Given the description of an element on the screen output the (x, y) to click on. 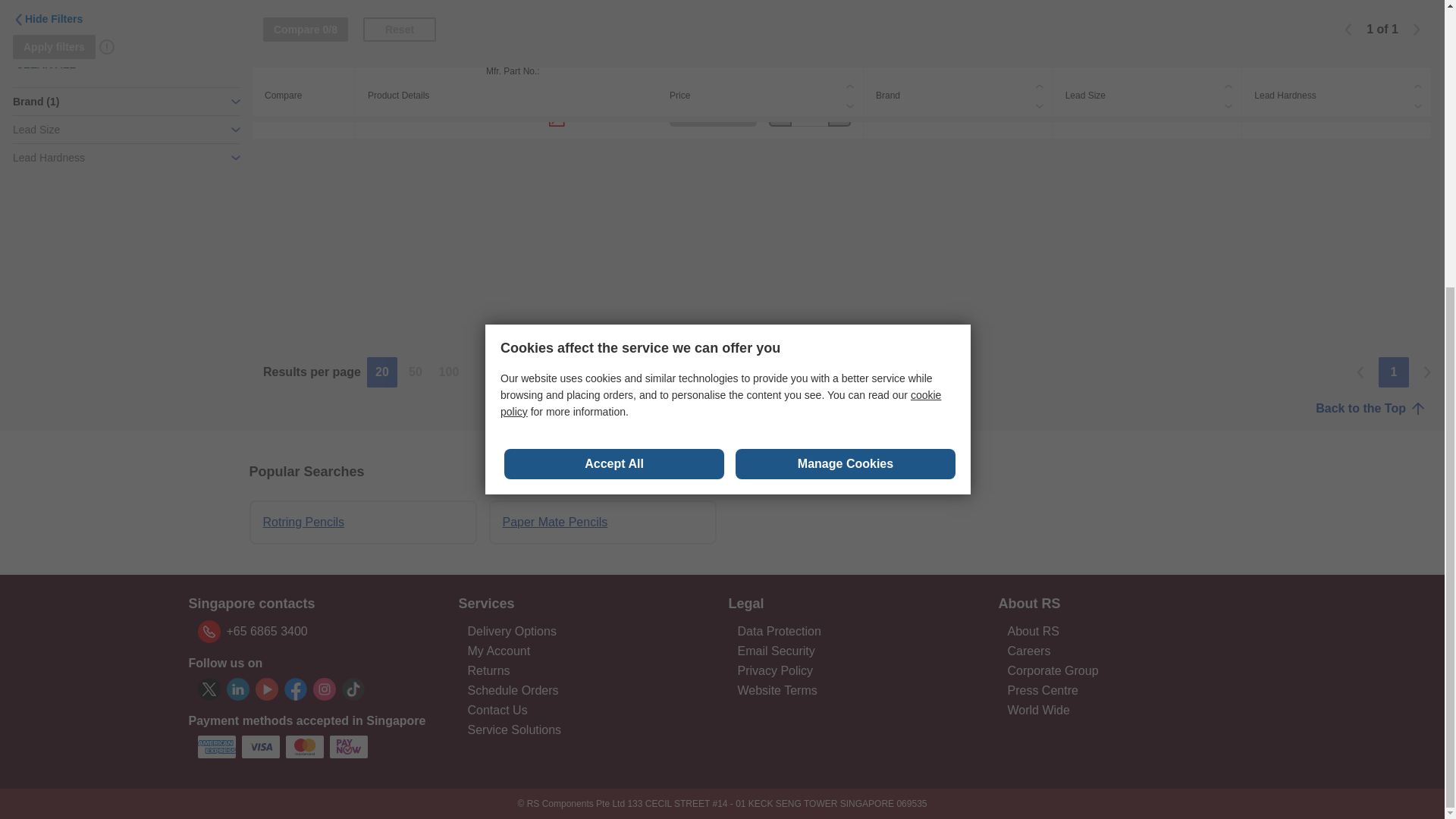
1 (810, 115)
on (299, 54)
